Given the description of an element on the screen output the (x, y) to click on. 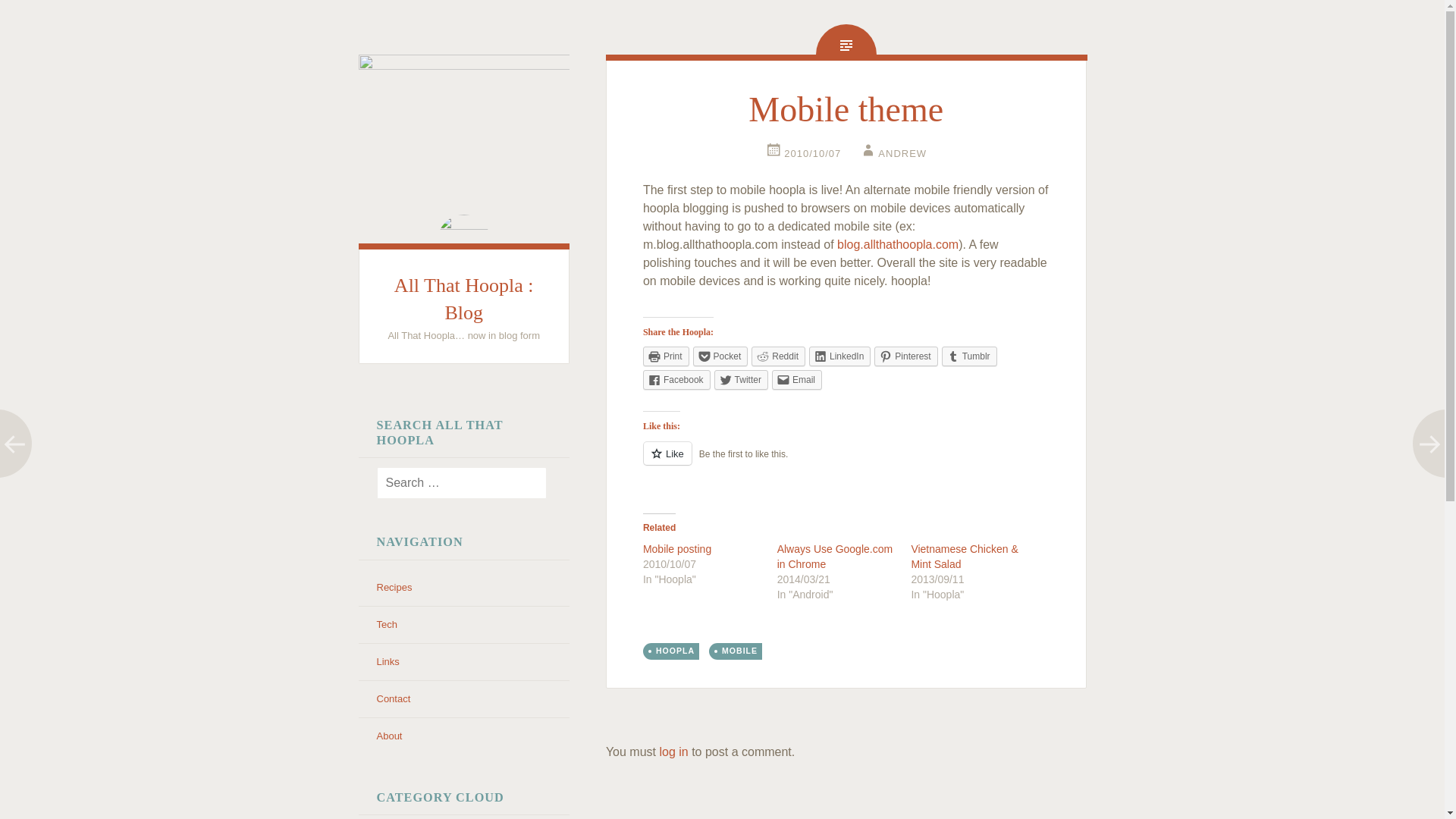
Click to print (665, 356)
SKIP TO CONTENT (376, 390)
10:43 (803, 153)
blog.allthathoopla.com (897, 244)
Click to share on Tumblr (969, 356)
Click to share on Facebook (676, 379)
About (388, 736)
View all posts by Andrew (892, 153)
Click to email this to a friend (796, 379)
Click to share on LinkedIn (839, 356)
